Given the description of an element on the screen output the (x, y) to click on. 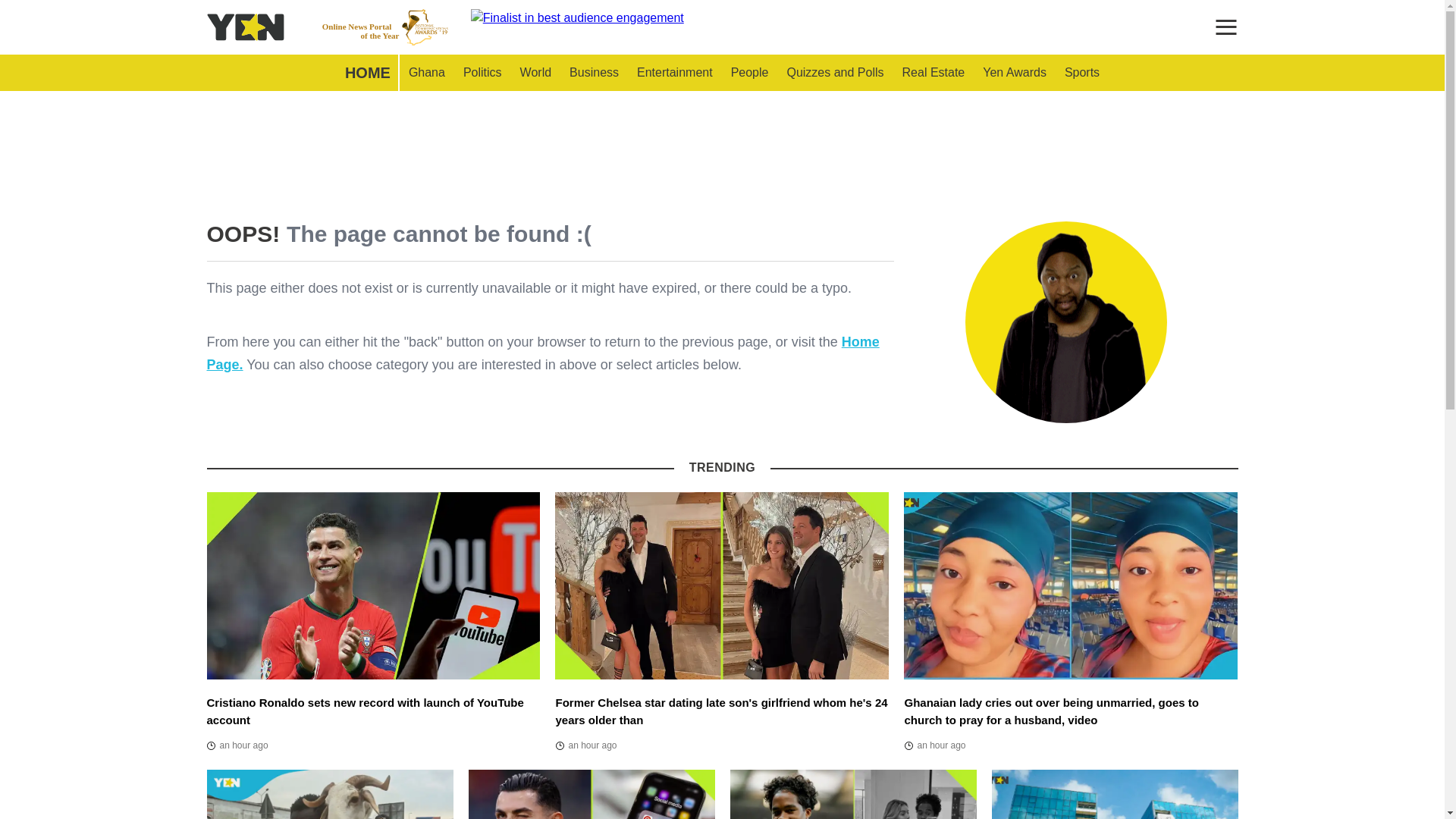
HOME (367, 72)
Politics (482, 72)
Real Estate (933, 72)
2024-08-21T15:48:25Z (384, 27)
Sports (236, 745)
2024-08-21T15:37:48Z (1081, 72)
Ghana (584, 745)
Quizzes and Polls (426, 72)
People (834, 72)
